Given the description of an element on the screen output the (x, y) to click on. 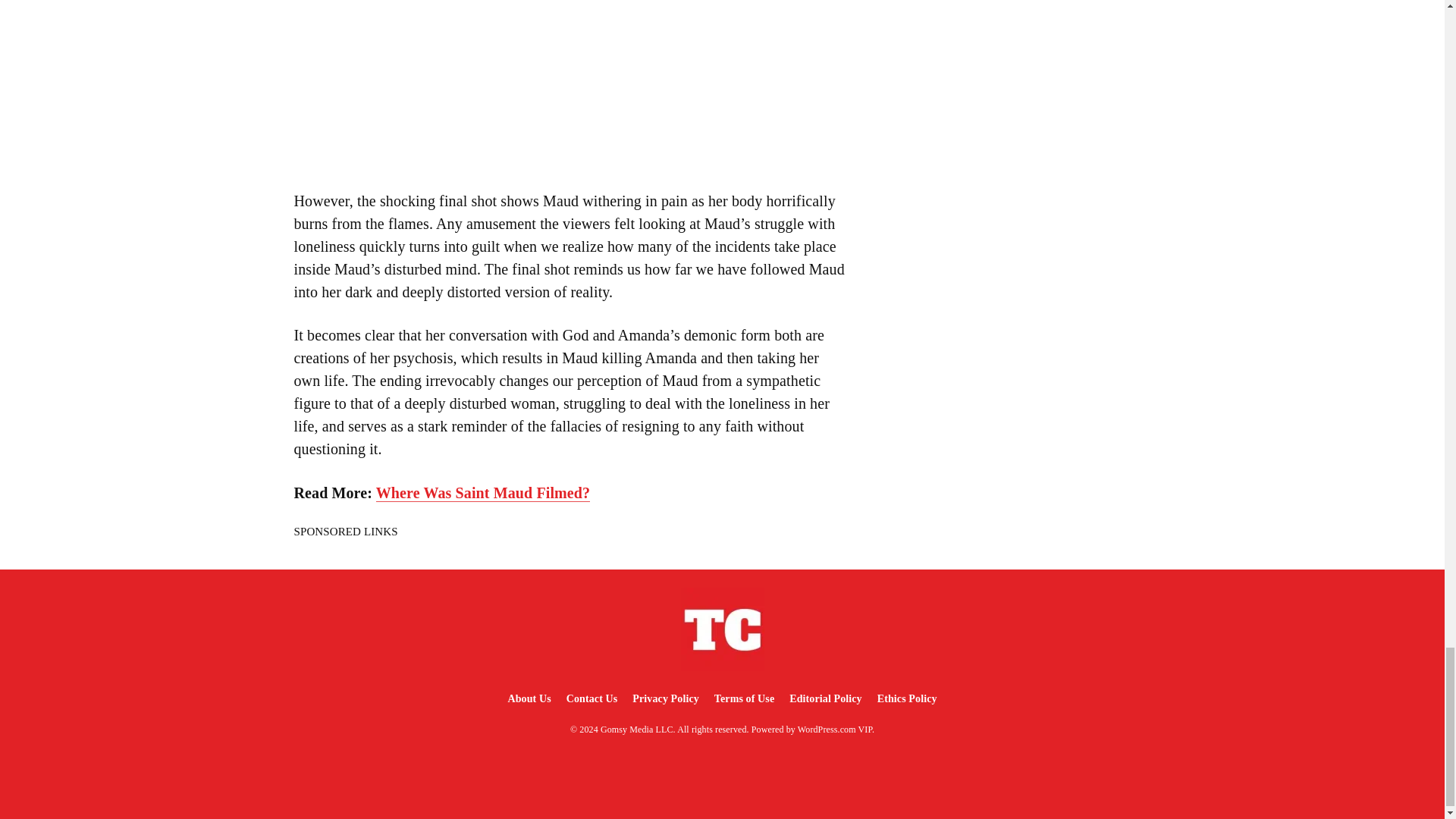
Terms of Use (743, 698)
Privacy Policy (665, 698)
Where Was Saint Maud Filmed? (482, 493)
Ethics Policy (906, 698)
About Us (528, 698)
WordPress.com VIP (834, 728)
Editorial Policy (825, 698)
Contact Us (592, 698)
